Given the description of an element on the screen output the (x, y) to click on. 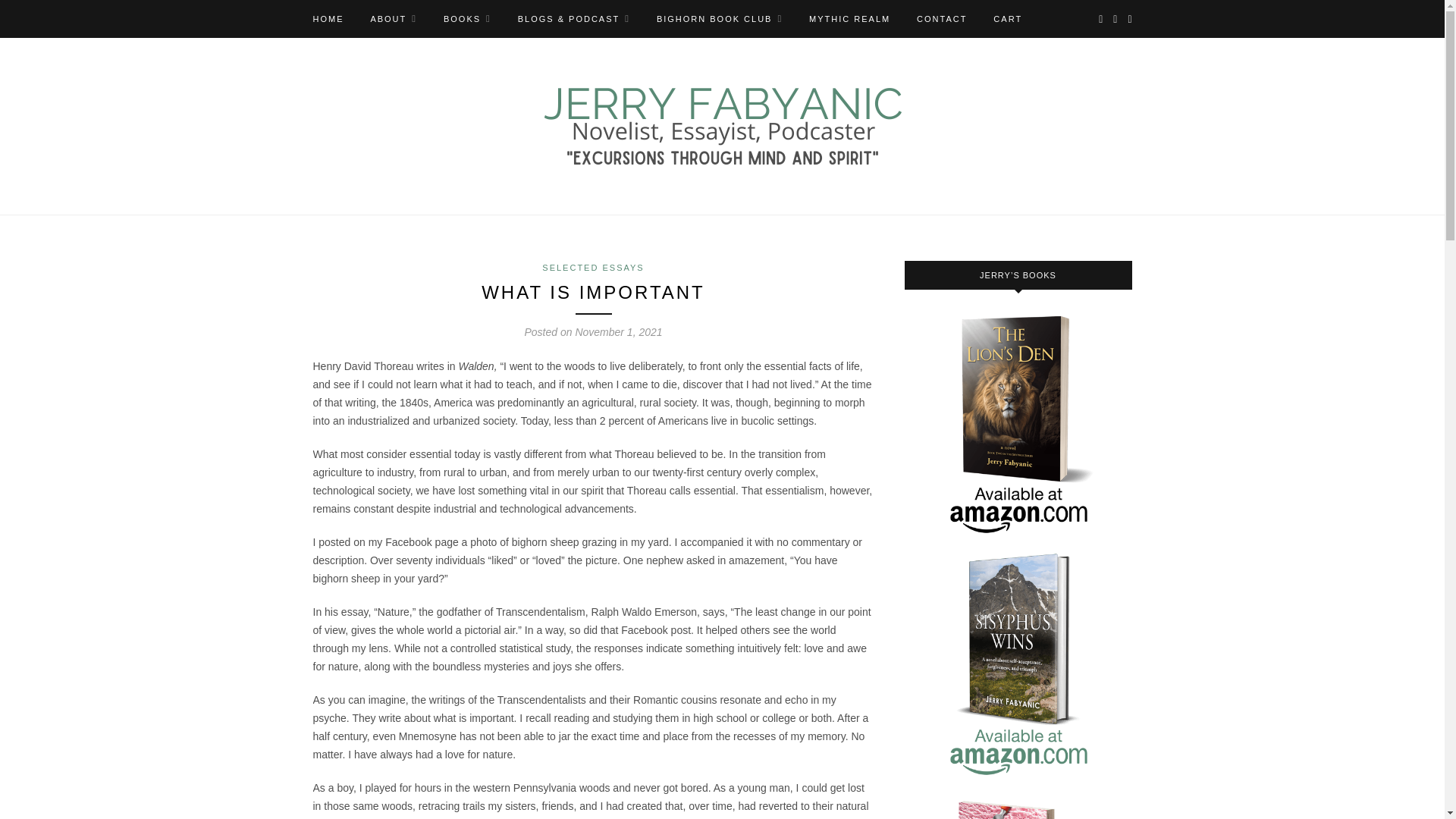
ABOUT (392, 18)
BOOKS (468, 18)
MYTHIC REALM (849, 18)
CONTACT (941, 18)
BIGHORN BOOK CLUB (719, 18)
